Given the description of an element on the screen output the (x, y) to click on. 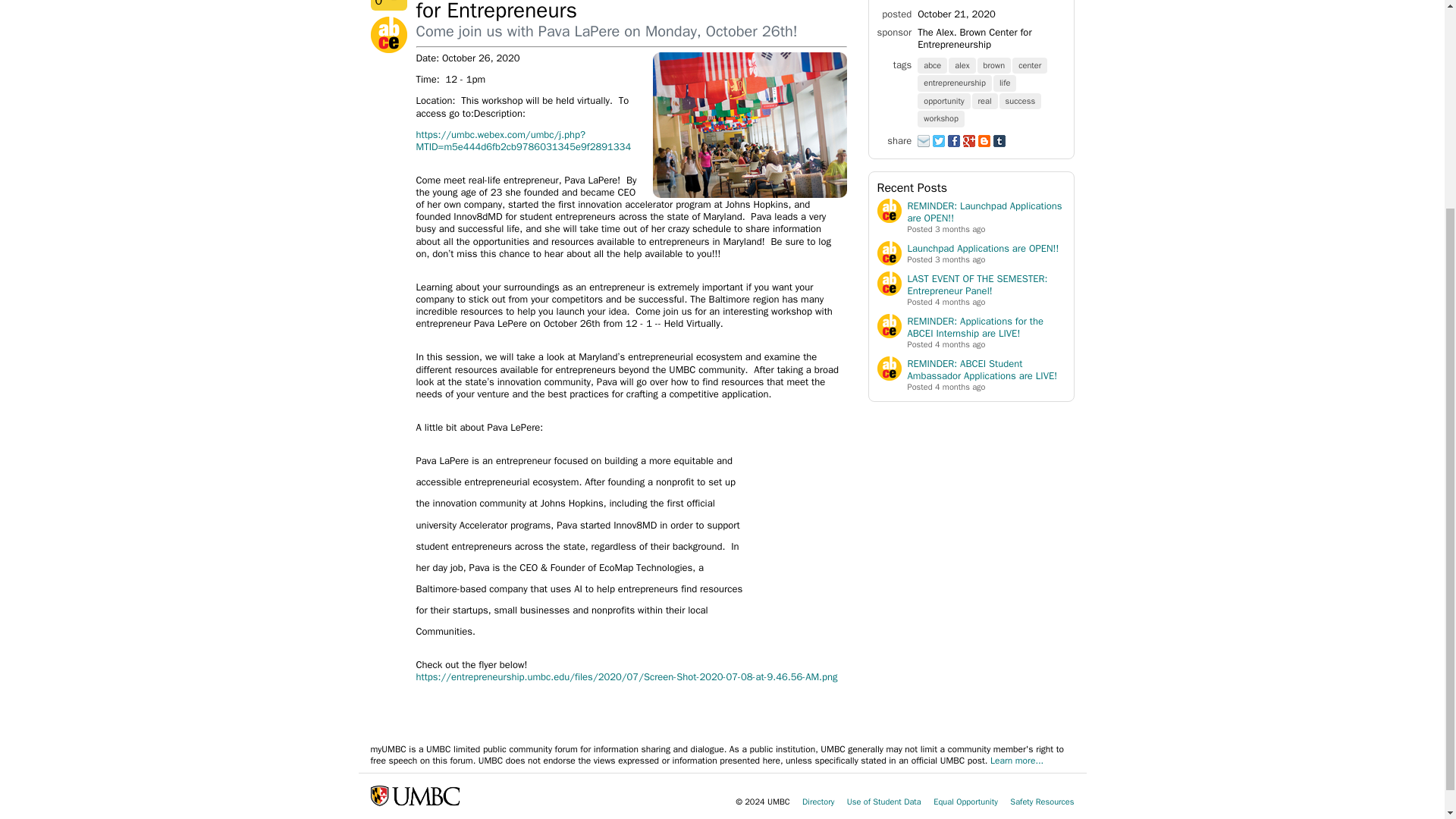
opportunity (944, 100)
abce (933, 64)
success (1020, 100)
brown (994, 64)
life (1004, 82)
workshop (941, 117)
alex (962, 64)
entrepreneurship (954, 82)
center (1029, 64)
real (985, 100)
0 (387, 5)
